Given the description of an element on the screen output the (x, y) to click on. 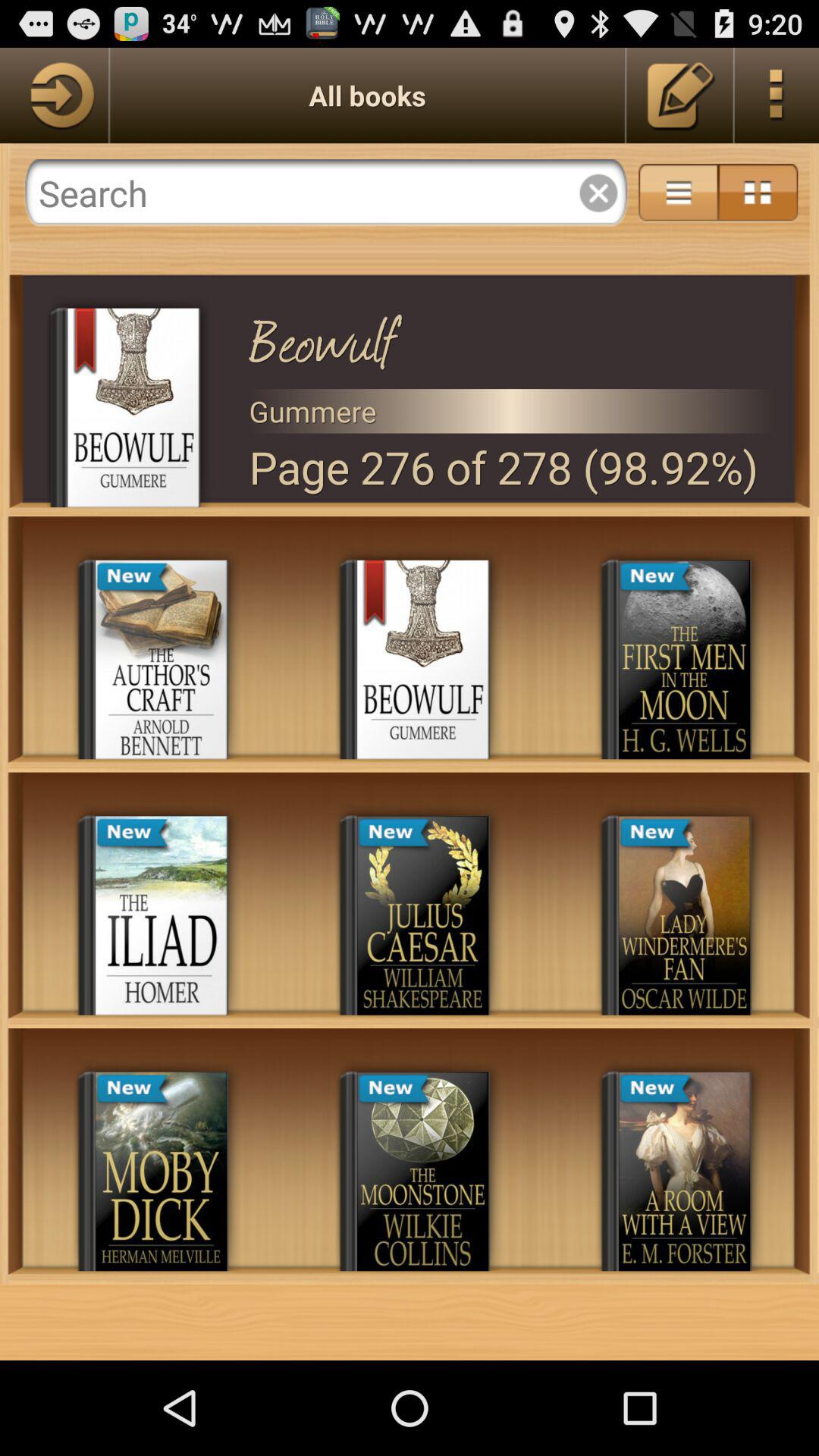
this button menu selection (776, 95)
